Given the description of an element on the screen output the (x, y) to click on. 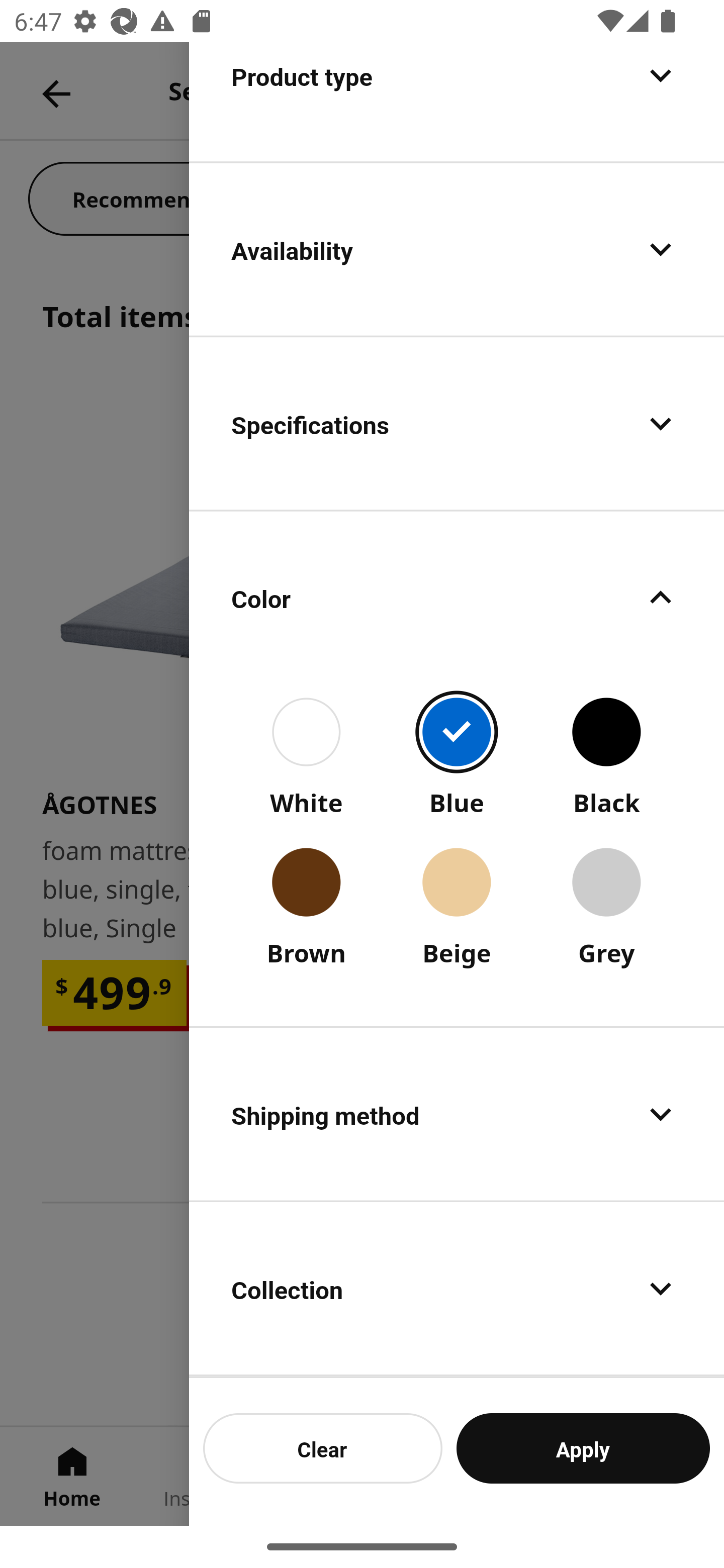
Product type (456, 100)
Availability (456, 248)
Specifications (456, 423)
Color (456, 597)
Shipping method (456, 1113)
Collection (456, 1288)
Clear (322, 1447)
Apply (583, 1447)
